Given the description of an element on the screen output the (x, y) to click on. 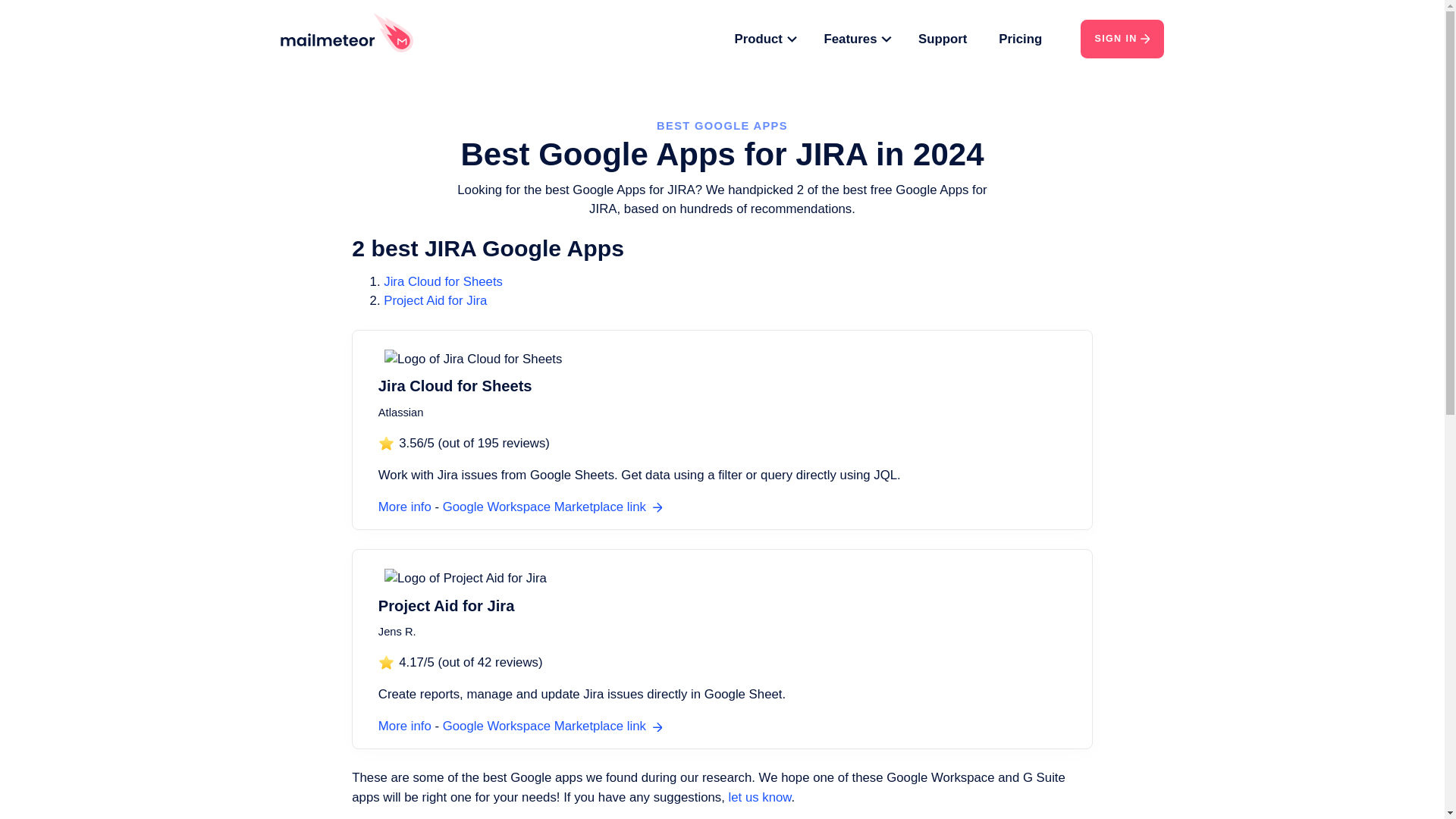
Project Aid for Jira (414, 286)
More info (384, 691)
Jira Cloud for Sheets (432, 367)
Product (730, 37)
SIGN IN (1068, 36)
Features (819, 37)
let us know (724, 758)
Google Workspace Marketplace link (526, 483)
Pricing (971, 37)
Google Workspace Marketplace link (526, 691)
